Given the description of an element on the screen output the (x, y) to click on. 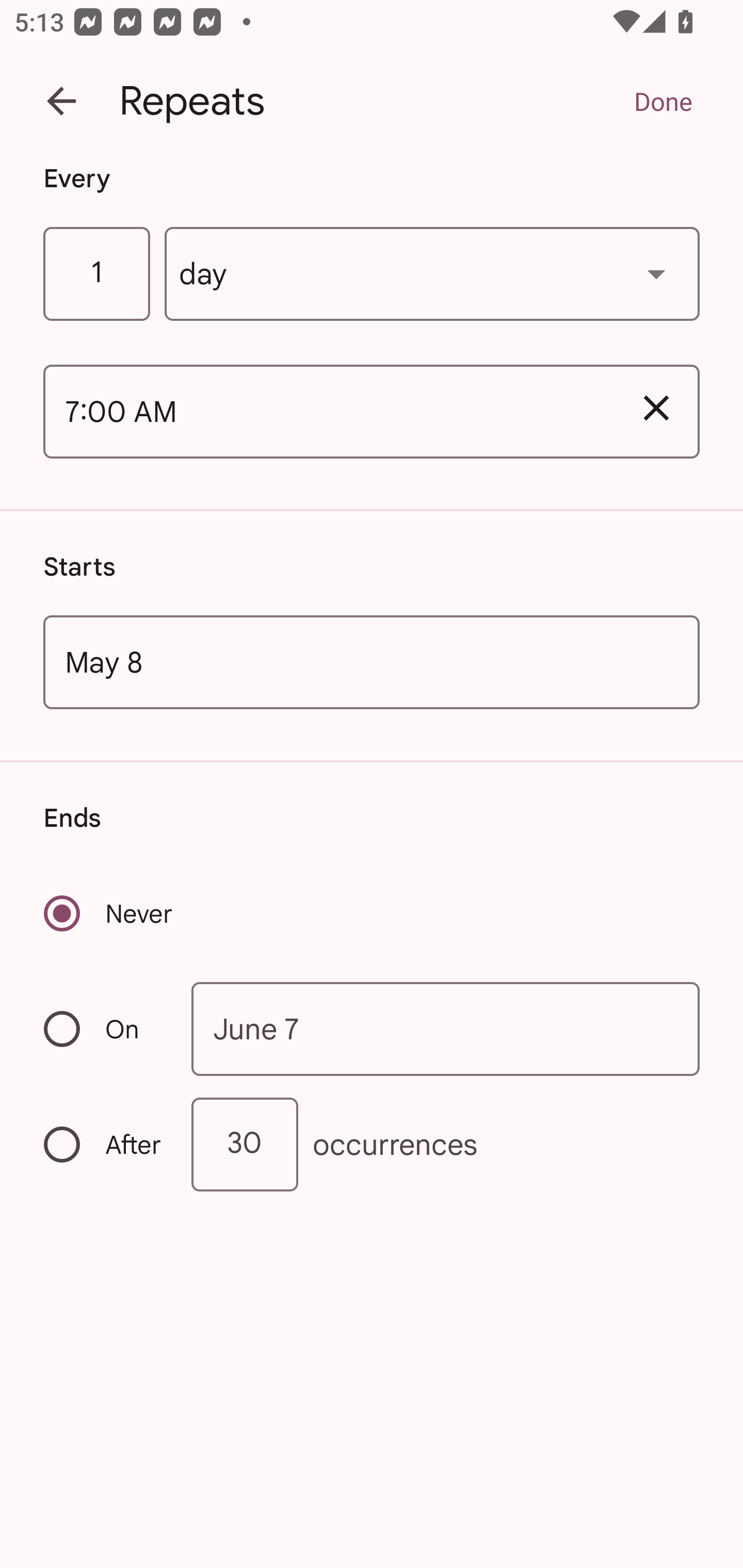
Back (61, 101)
Done (663, 101)
1 (96, 274)
day (431, 274)
Show dropdown menu (655, 273)
7:00 AM (327, 411)
Remove 7:00 AM (655, 408)
May 8 (371, 661)
Never Recurrence never ends (109, 913)
June 7 (445, 1028)
On Recurrence ends on a specific date (104, 1029)
30 (244, 1144)
